Given the description of an element on the screen output the (x, y) to click on. 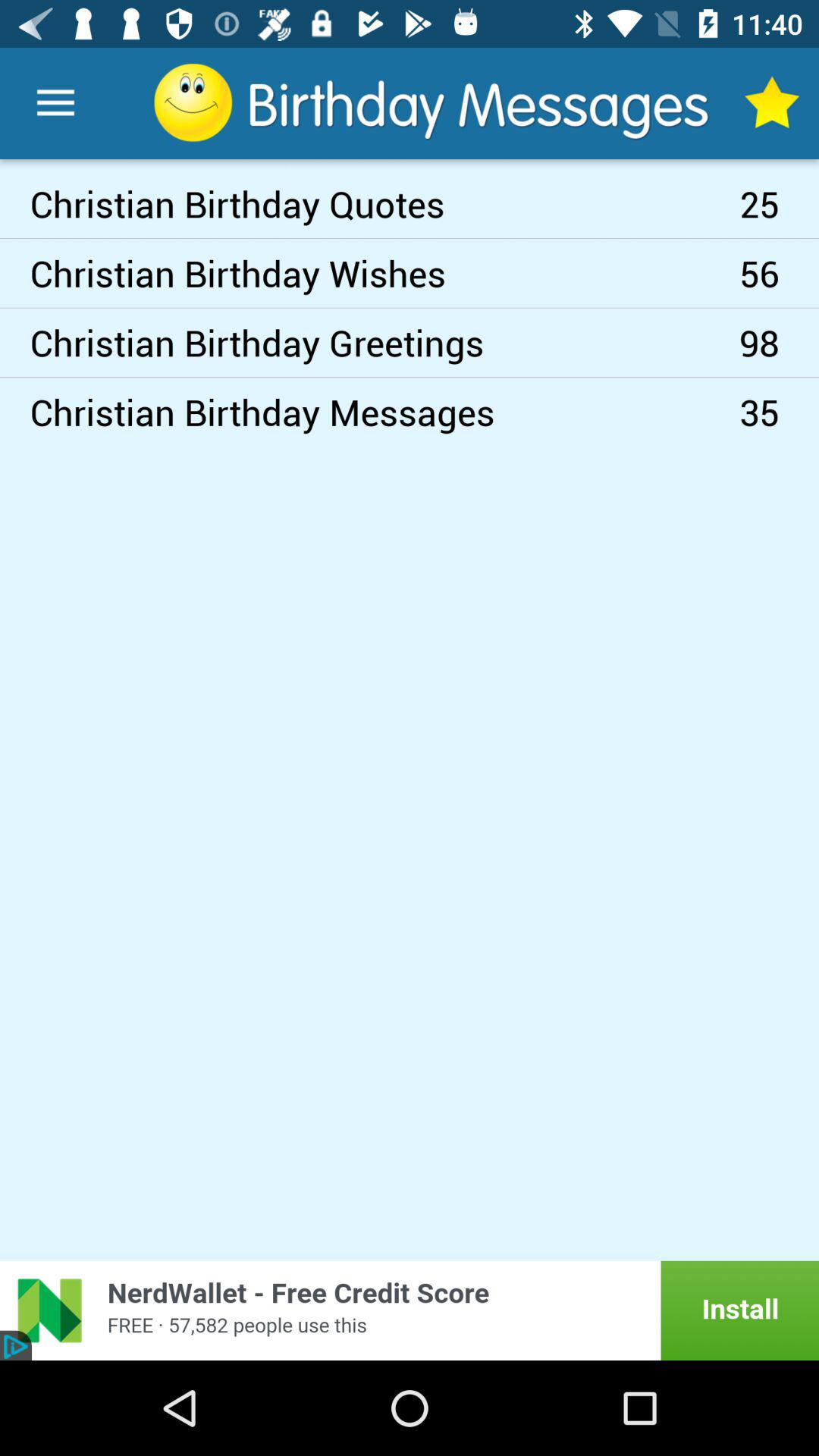
turn on item above 35 (779, 342)
